Given the description of an element on the screen output the (x, y) to click on. 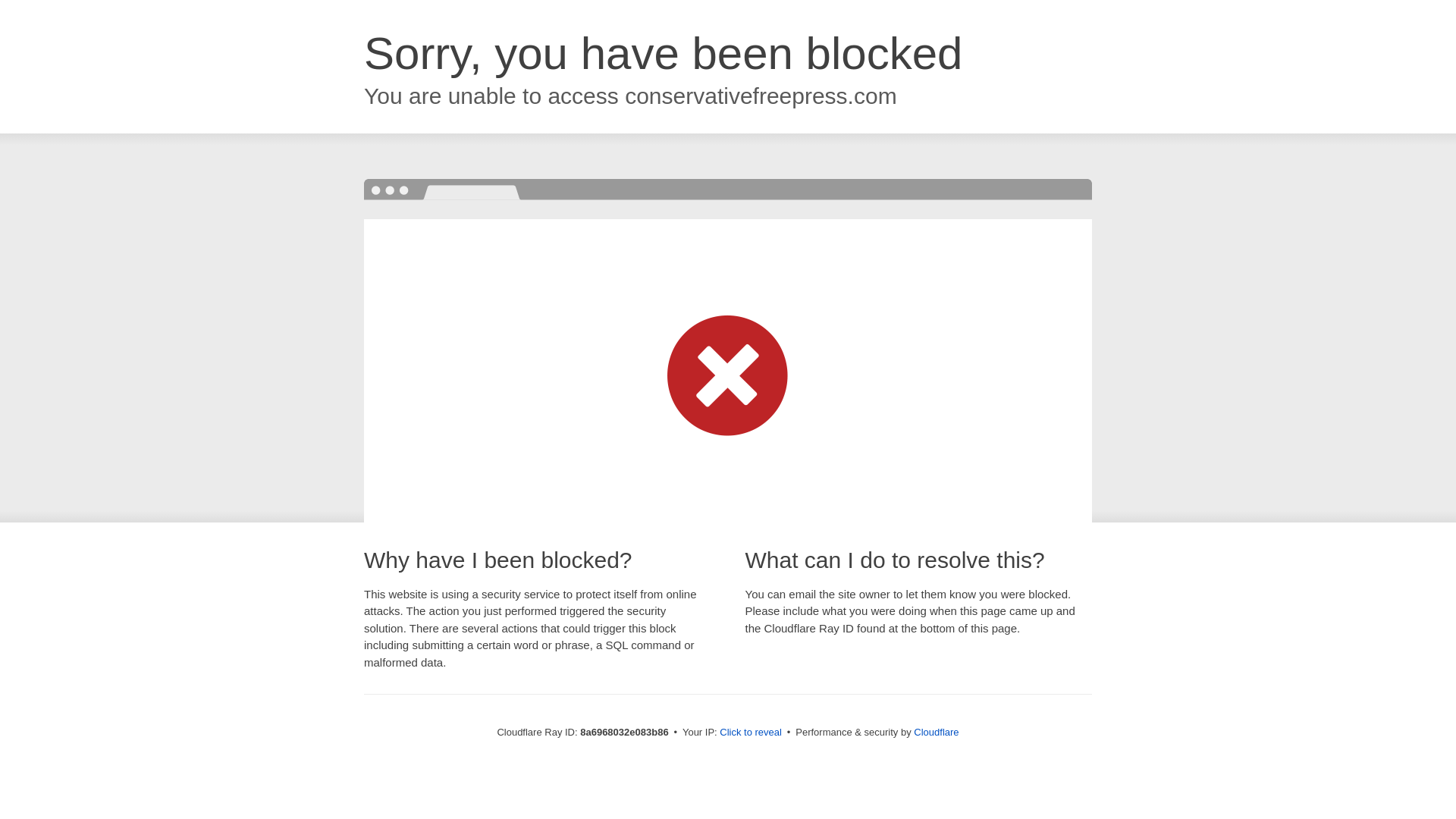
Cloudflare (936, 731)
Click to reveal (750, 732)
